Given the description of an element on the screen output the (x, y) to click on. 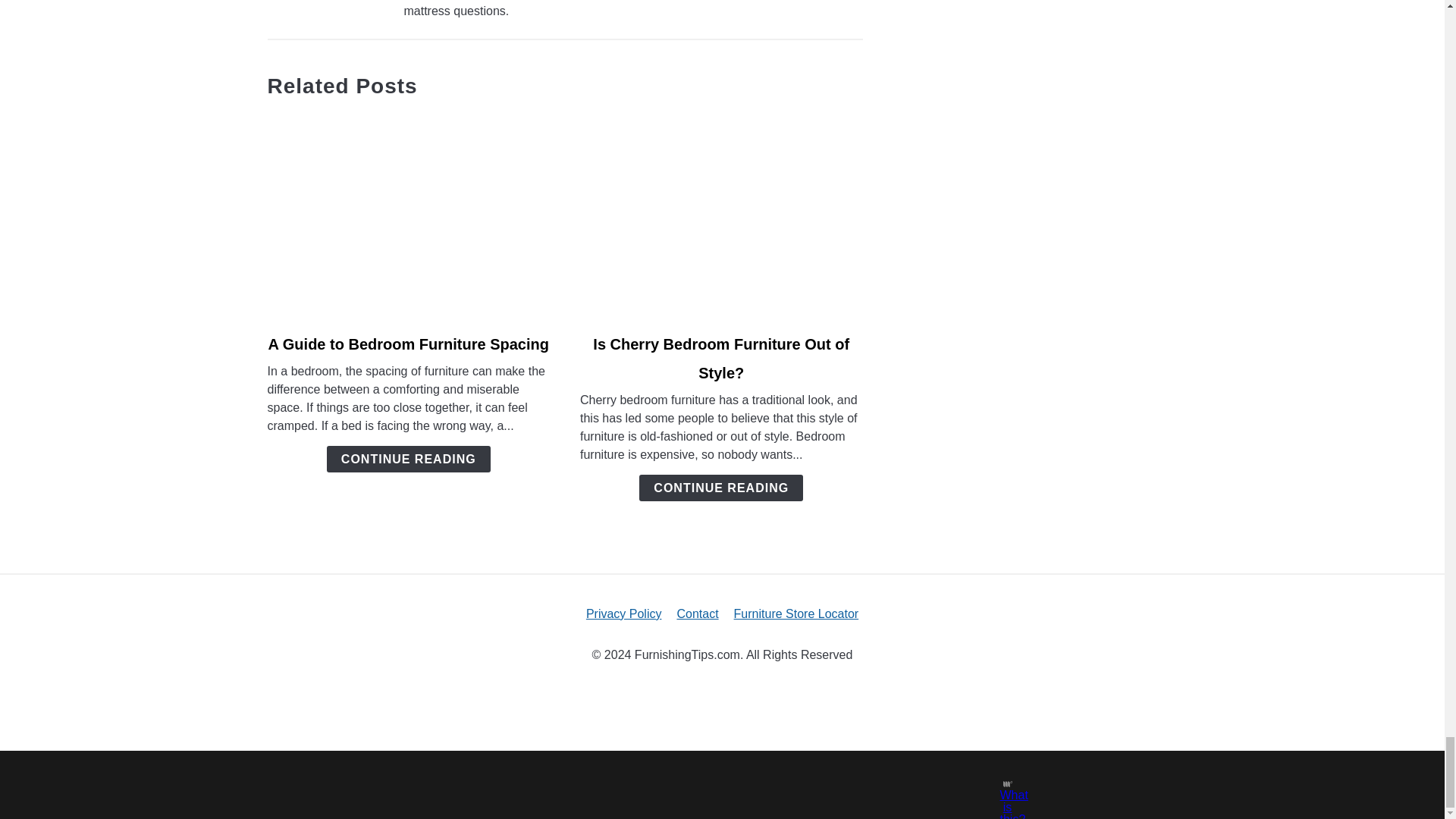
Privacy Policy (624, 613)
A Guide to Bedroom Furniture Spacing (407, 343)
link to Is Cherry Bedroom Furniture Out of Style? (721, 215)
CONTINUE READING (408, 458)
CONTINUE READING (721, 488)
Contact (697, 613)
link to A Guide to Bedroom Furniture Spacing (408, 215)
Is Cherry Bedroom Furniture Out of Style? (720, 358)
Furniture Store Locator (796, 613)
